Given the description of an element on the screen output the (x, y) to click on. 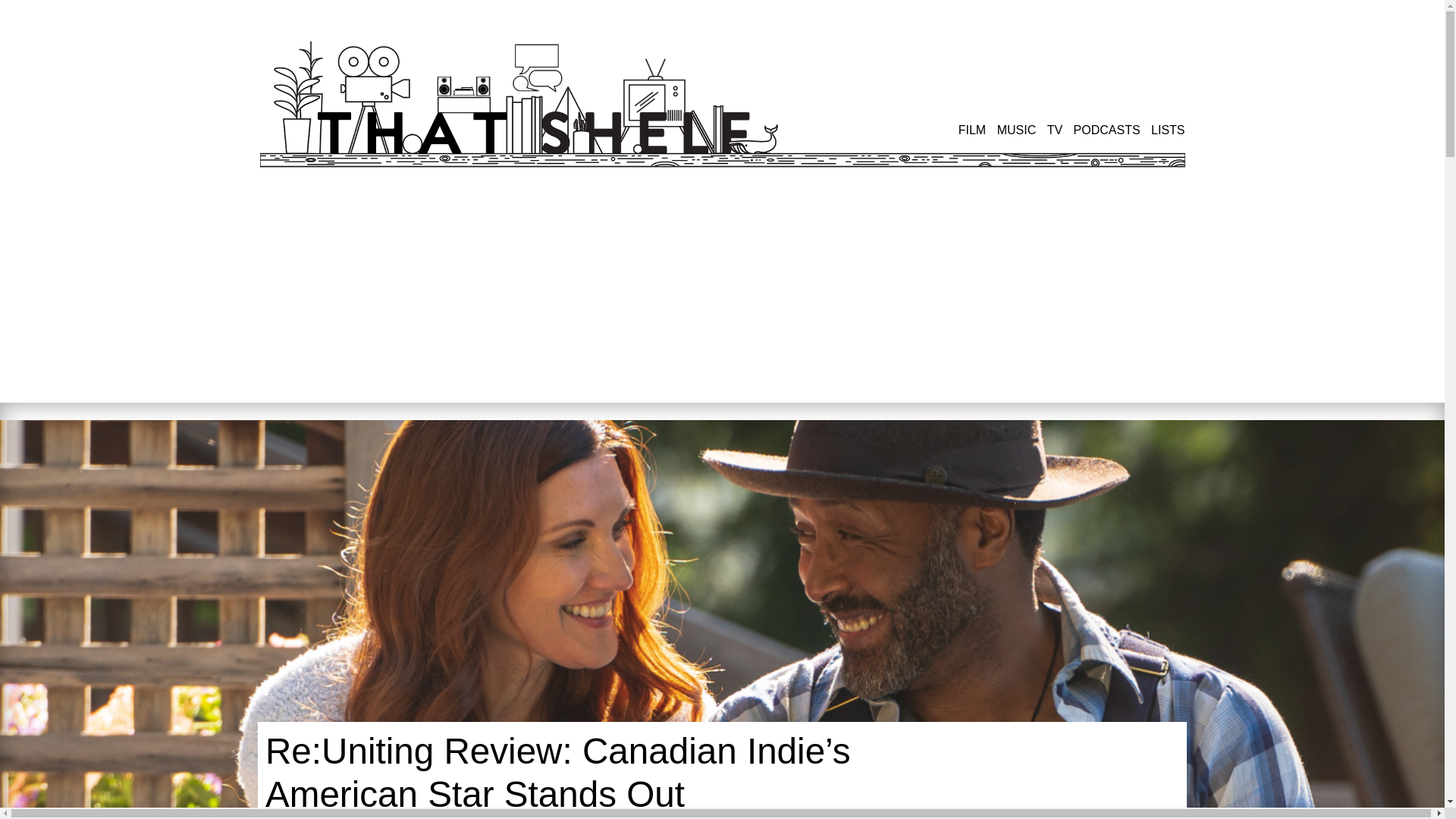
TV (1054, 129)
FILM (971, 129)
PODCASTS (1107, 129)
MUSIC (1016, 129)
Podcasts (1107, 129)
LISTS (1168, 129)
Film (971, 129)
TV (1054, 129)
Home (536, 104)
